Given the description of an element on the screen output the (x, y) to click on. 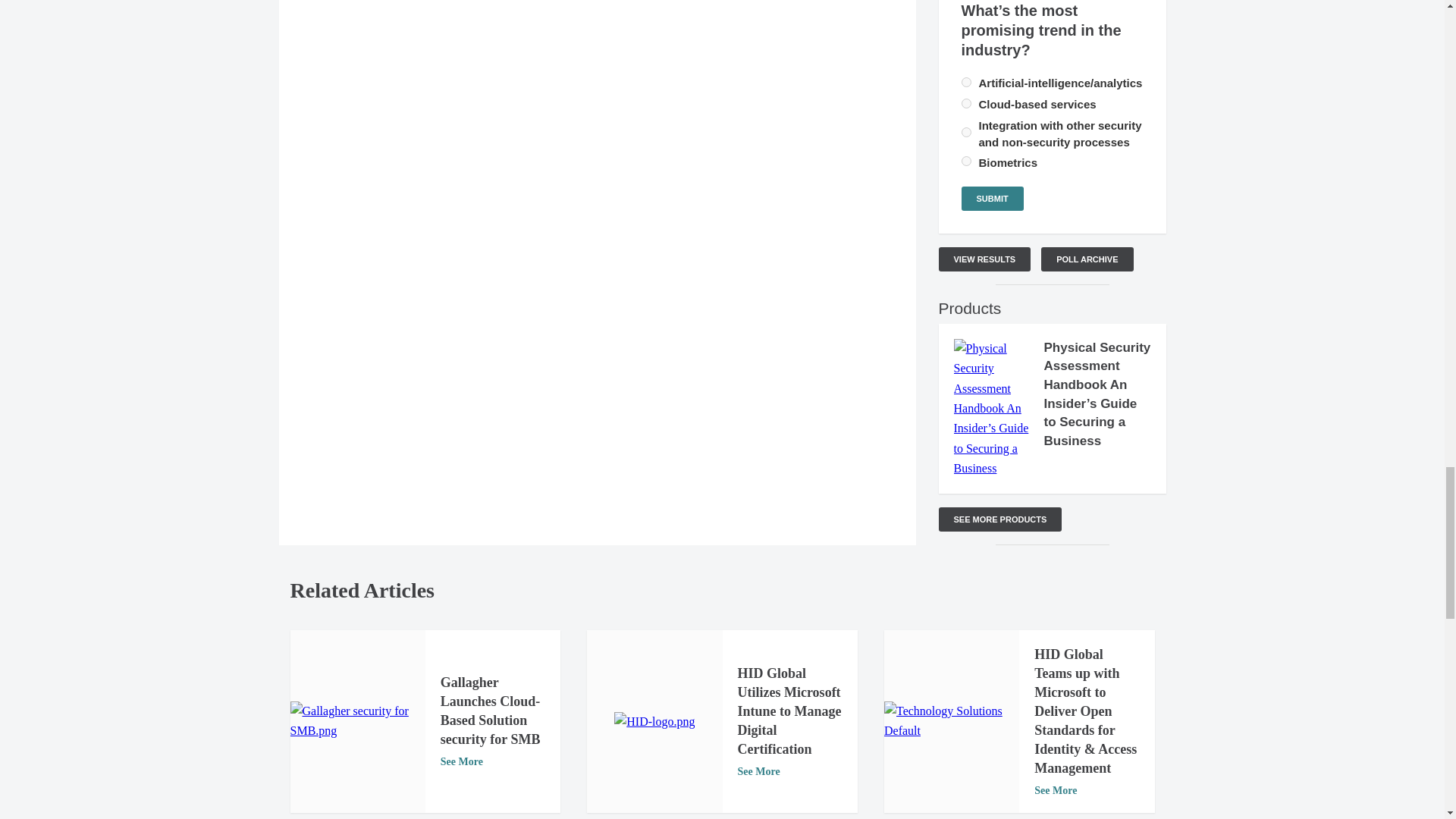
489 (965, 81)
491 (965, 132)
Gallagher security for SMB.png (357, 721)
490 (965, 103)
HID-logo.png (654, 721)
Technology Solutions Default (951, 721)
Submit (991, 198)
492 (965, 161)
